Given the description of an element on the screen output the (x, y) to click on. 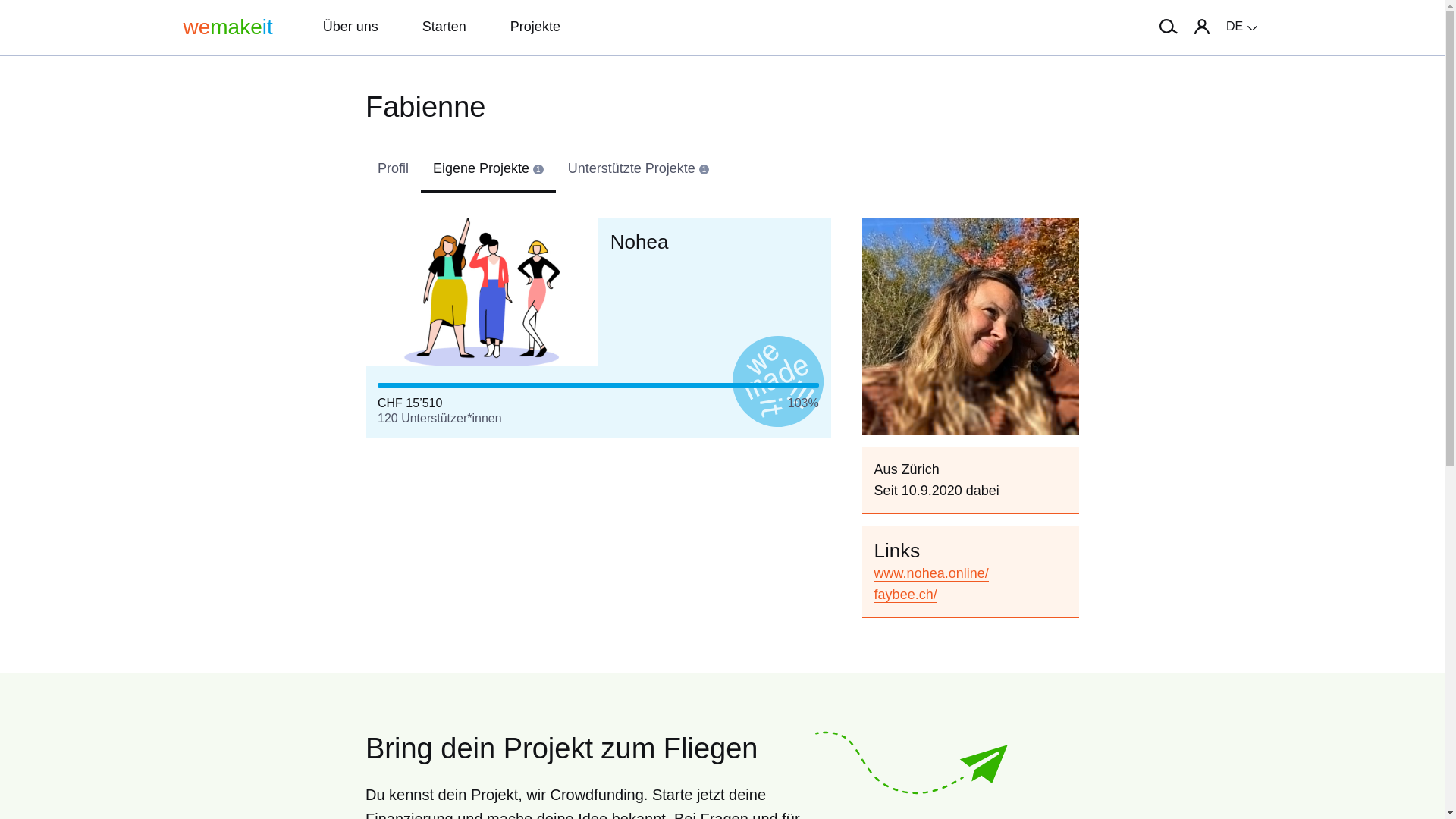
wemakeit (228, 26)
Projekte (522, 26)
Home (228, 26)
Profil (392, 169)
Nohea (639, 241)
Eigene Projekte 1 (488, 169)
Starten (430, 26)
